Given the description of an element on the screen output the (x, y) to click on. 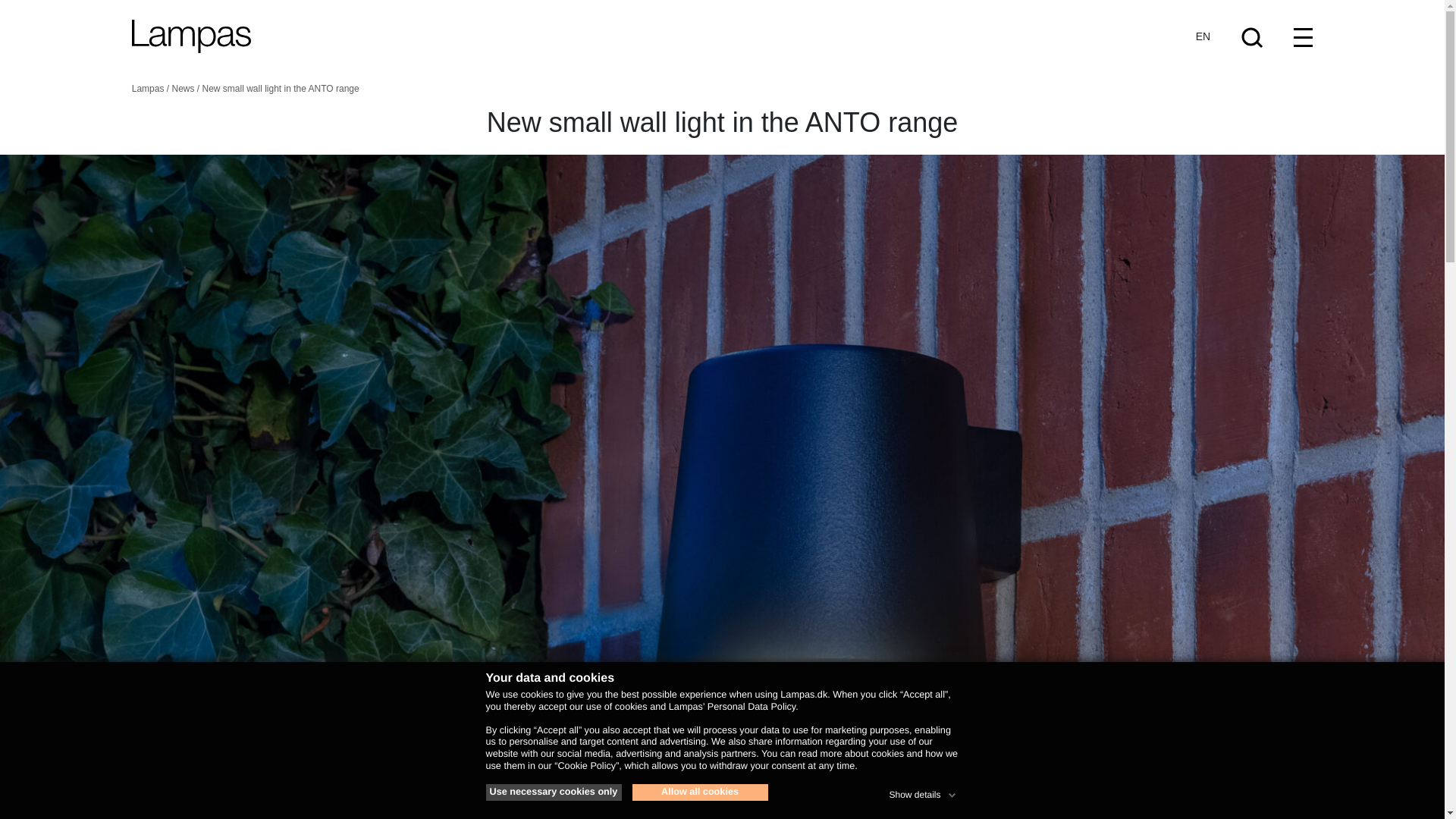
Allow all cookies (699, 791)
Use necessary cookies only (552, 791)
Show details (923, 791)
